Given the description of an element on the screen output the (x, y) to click on. 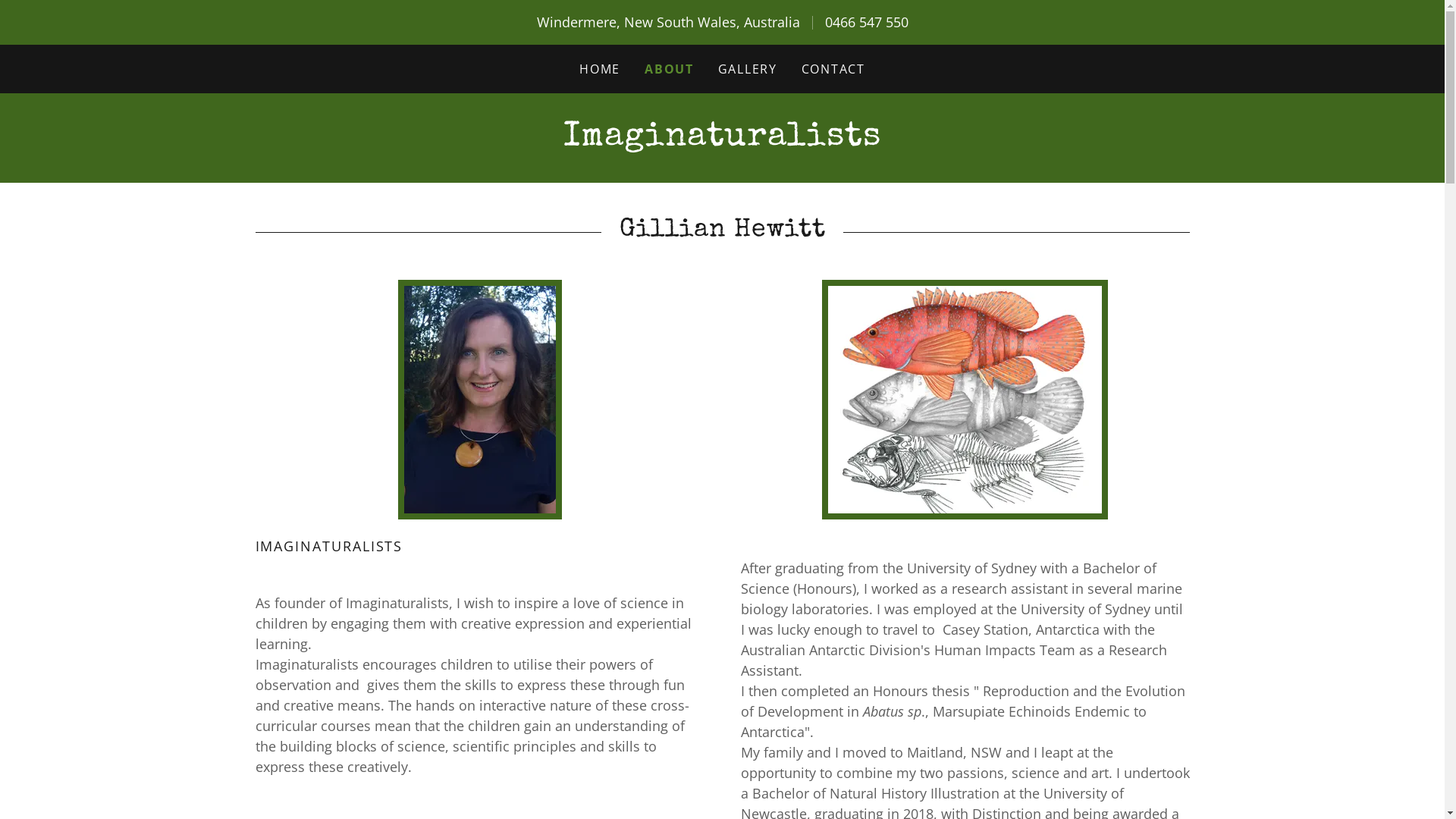
HOME Element type: text (599, 68)
GALLERY Element type: text (747, 68)
Imaginaturalists Element type: text (721, 139)
CONTACT Element type: text (833, 68)
ABOUT Element type: text (668, 68)
0466 547 550 Element type: text (866, 21)
